Given the description of an element on the screen output the (x, y) to click on. 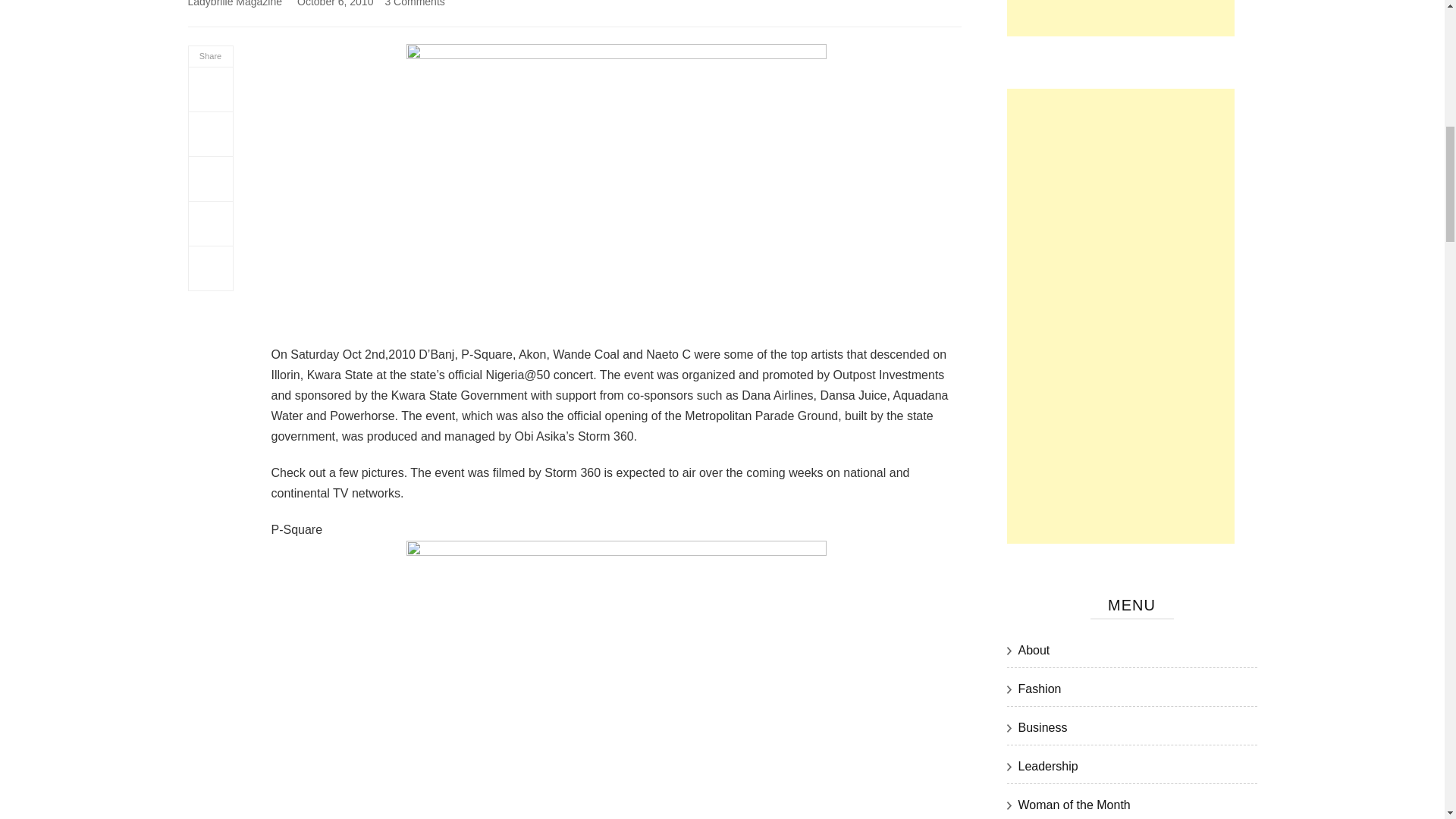
October 6, 2010 (334, 3)
Ladybrille Magazine (234, 3)
The Crowd (616, 184)
P-Square 2 (616, 679)
